Given the description of an element on the screen output the (x, y) to click on. 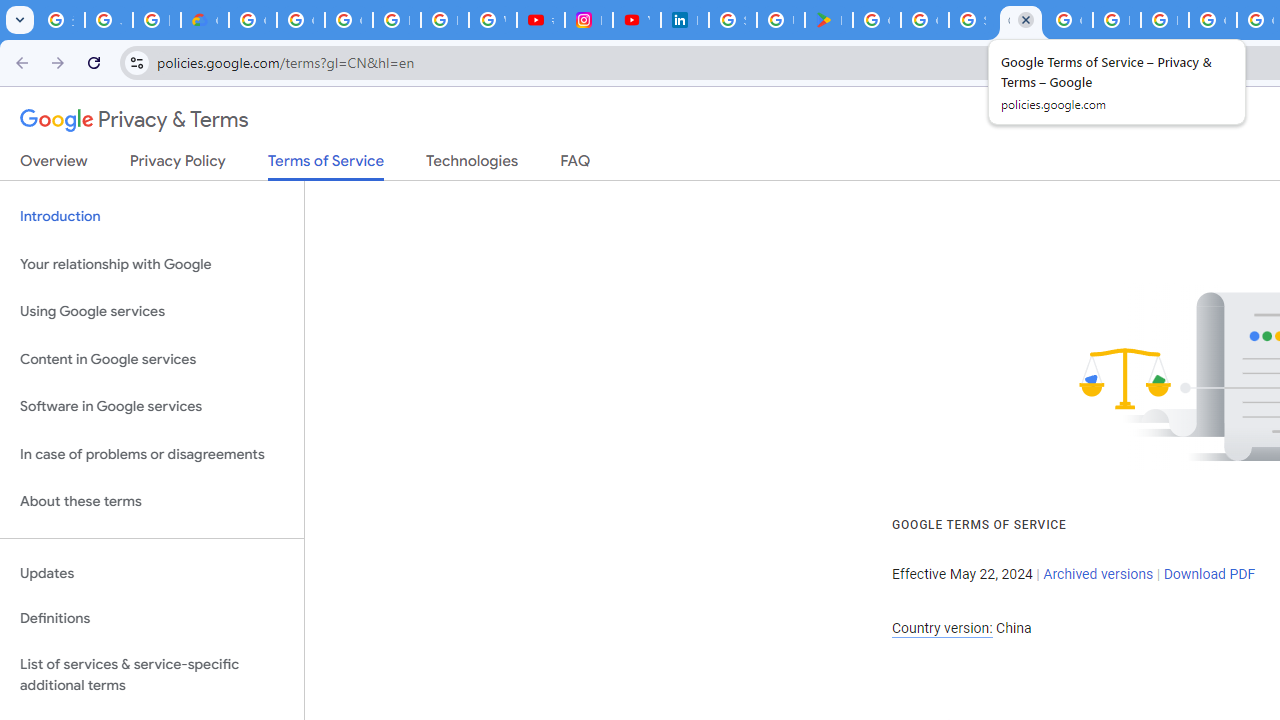
Archived versions (1098, 574)
#nbabasketballhighlights - YouTube (540, 20)
Definitions (152, 619)
Content in Google services (152, 358)
How do I create a new Google Account? - Google Account Help (1116, 20)
Sign in - Google Accounts (732, 20)
Last Shelter: Survival - Apps on Google Play (828, 20)
